Given the description of an element on the screen output the (x, y) to click on. 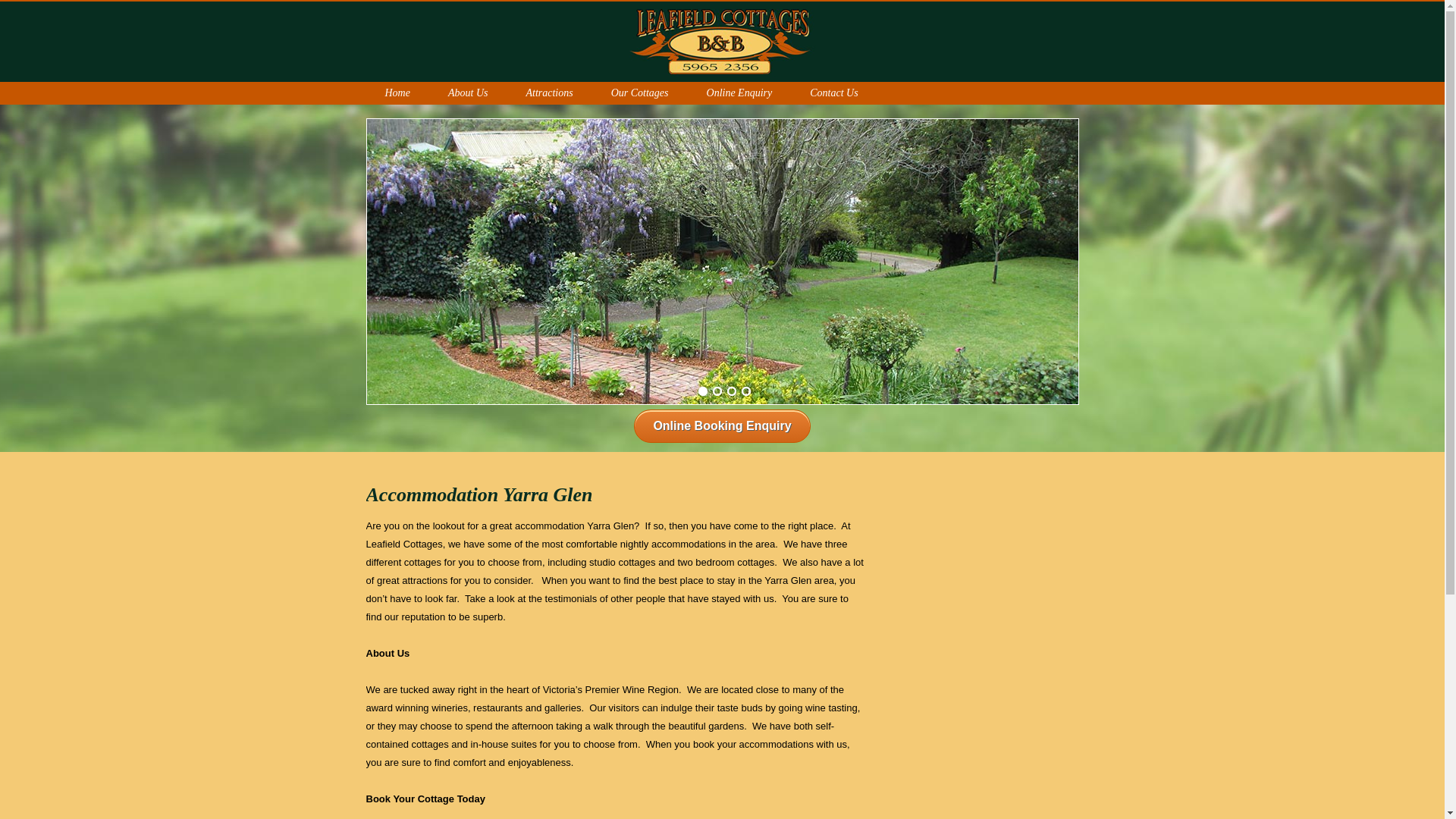
Online Booking Enquiry Element type: text (721, 425)
slide-01 Element type: hover (722, 261)
About Us Element type: text (468, 92)
Leafield Cottages Element type: text (722, 43)
2 Element type: text (716, 391)
Attractions Element type: text (548, 92)
3 Element type: text (731, 391)
4 Element type: text (745, 391)
Contact Us Element type: text (833, 92)
Our Cottages Element type: text (639, 92)
Home Element type: text (396, 92)
1 Element type: text (702, 391)
Online Enquiry Element type: text (739, 92)
